Given the description of an element on the screen output the (x, y) to click on. 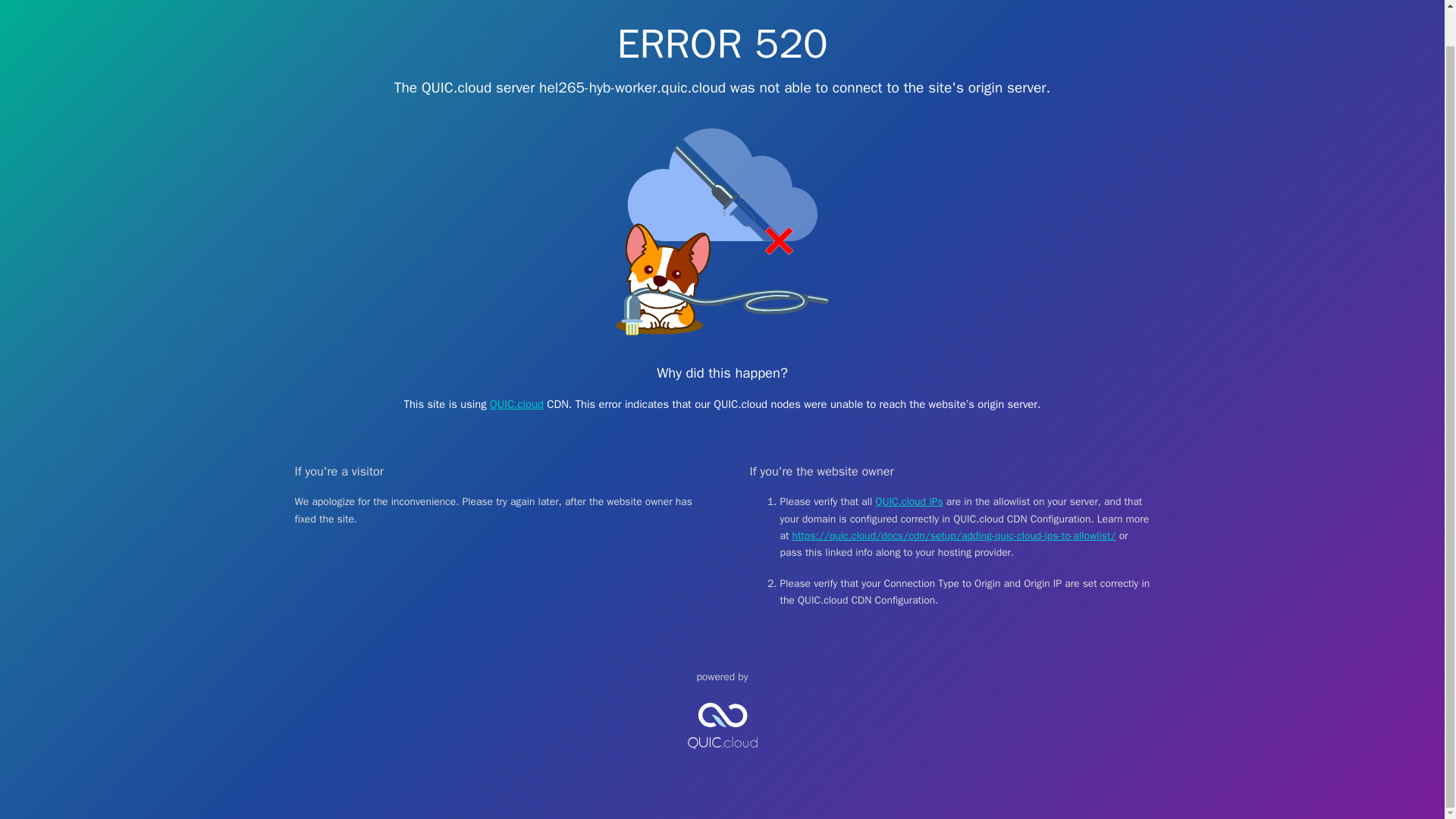
QUIC.cloud IPs (909, 501)
QUIC.cloud (721, 761)
QUIC.cloud (516, 404)
